Given the description of an element on the screen output the (x, y) to click on. 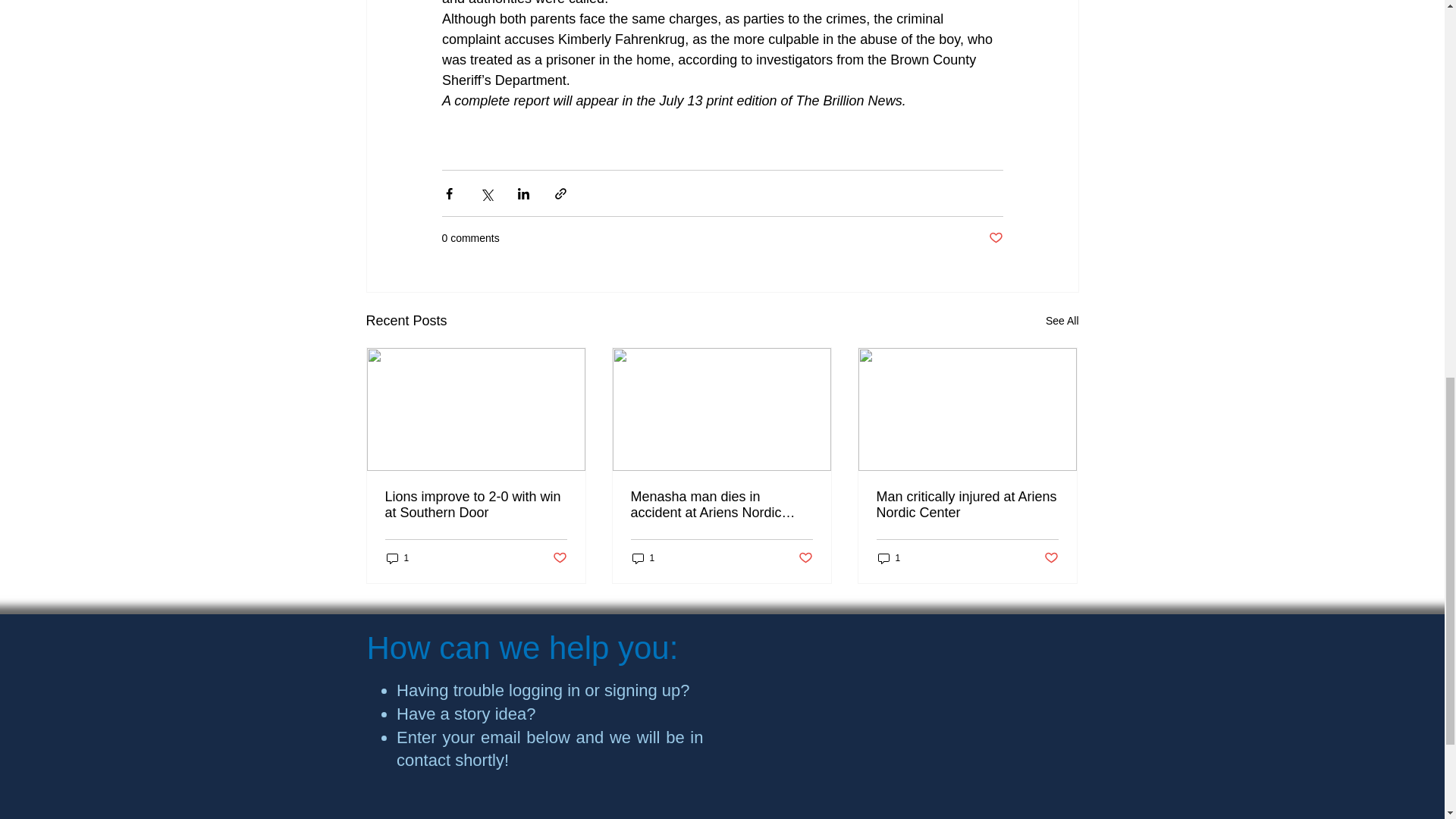
See All (1061, 321)
1 (397, 557)
Lions improve to 2-0 with win at Southern Door (476, 504)
Post not marked as liked (558, 558)
Post not marked as liked (995, 238)
